Given the description of an element on the screen output the (x, y) to click on. 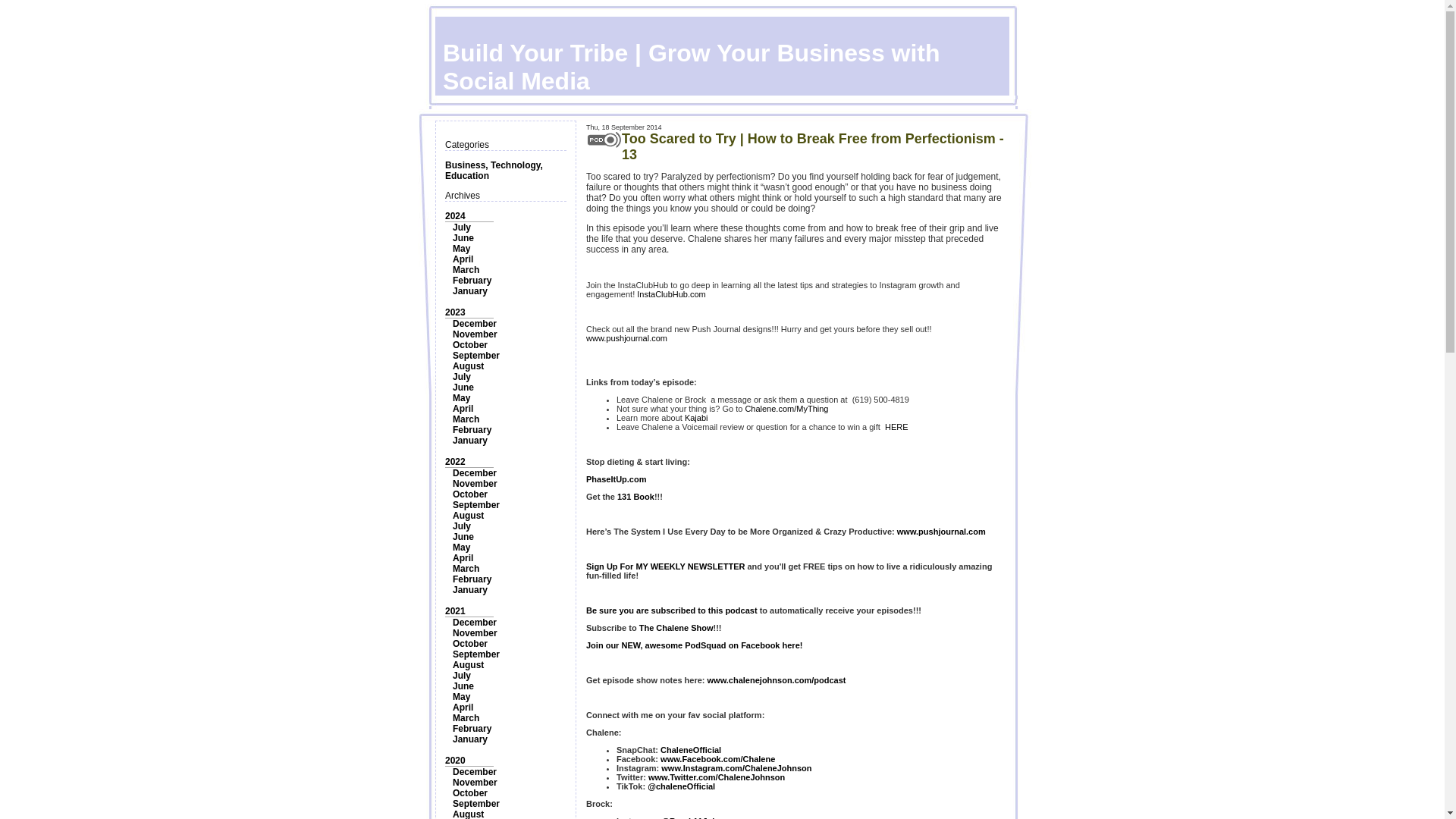
2021 (455, 611)
February (472, 280)
May (461, 398)
September (475, 654)
May (461, 547)
October (469, 344)
November (474, 334)
July (461, 525)
December (474, 622)
January (469, 589)
August (467, 515)
September (475, 355)
June (463, 536)
April (462, 557)
March (465, 419)
